Given the description of an element on the screen output the (x, y) to click on. 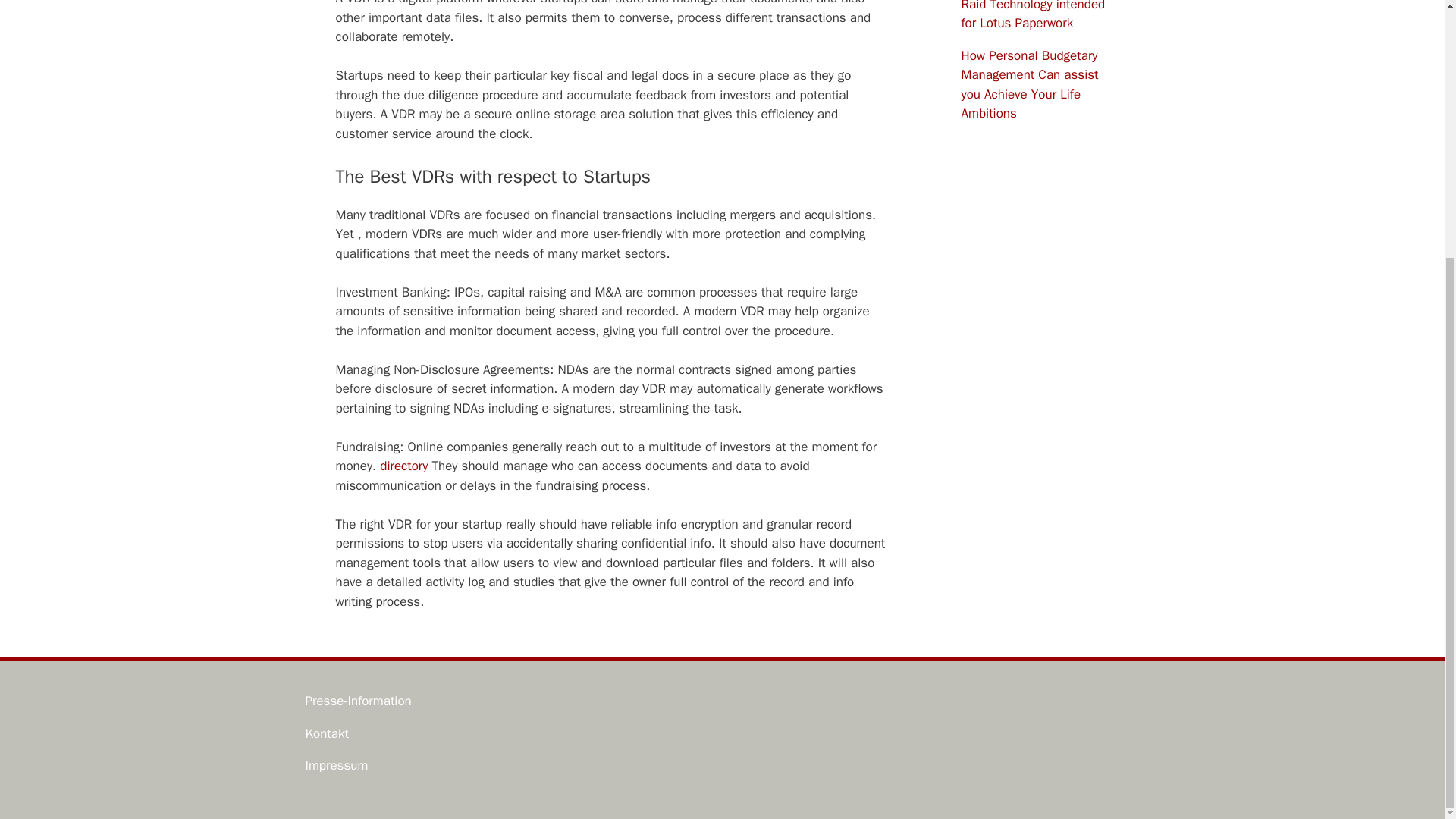
Impressum (336, 765)
Presse-Information (357, 700)
directory (404, 465)
Raid Technology intended for Lotus Paperwork (1032, 15)
Kontakt (325, 733)
